Given the description of an element on the screen output the (x, y) to click on. 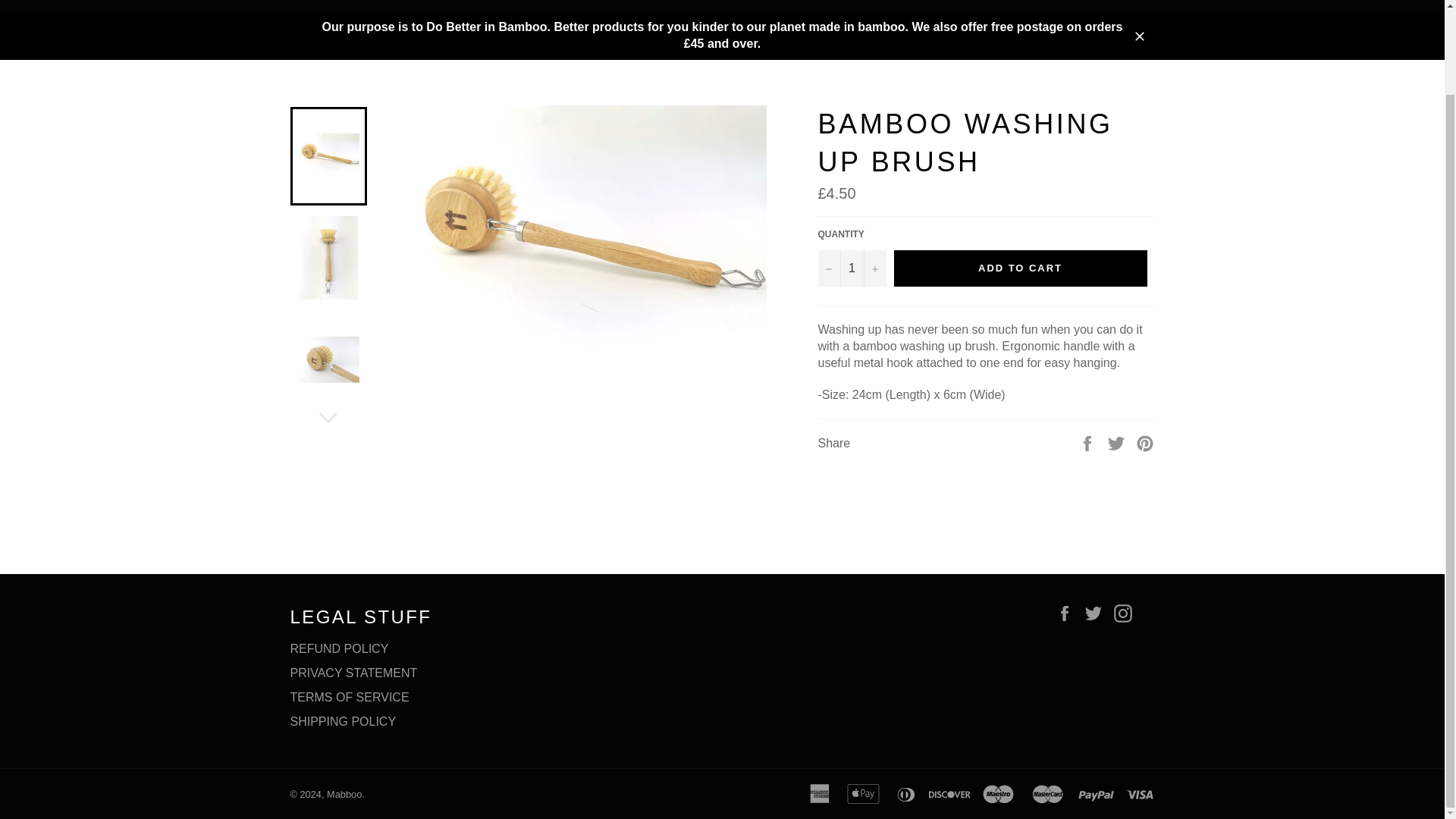
Tweet on Twitter (1117, 441)
Mabboo on Twitter (1096, 613)
Share on Facebook (1088, 441)
Pin on Pinterest (1144, 441)
Mabboo on Facebook (1068, 613)
HOME (306, 6)
1 (850, 268)
MENS (378, 6)
Mabboo on Instagram (1125, 613)
